Given the description of an element on the screen output the (x, y) to click on. 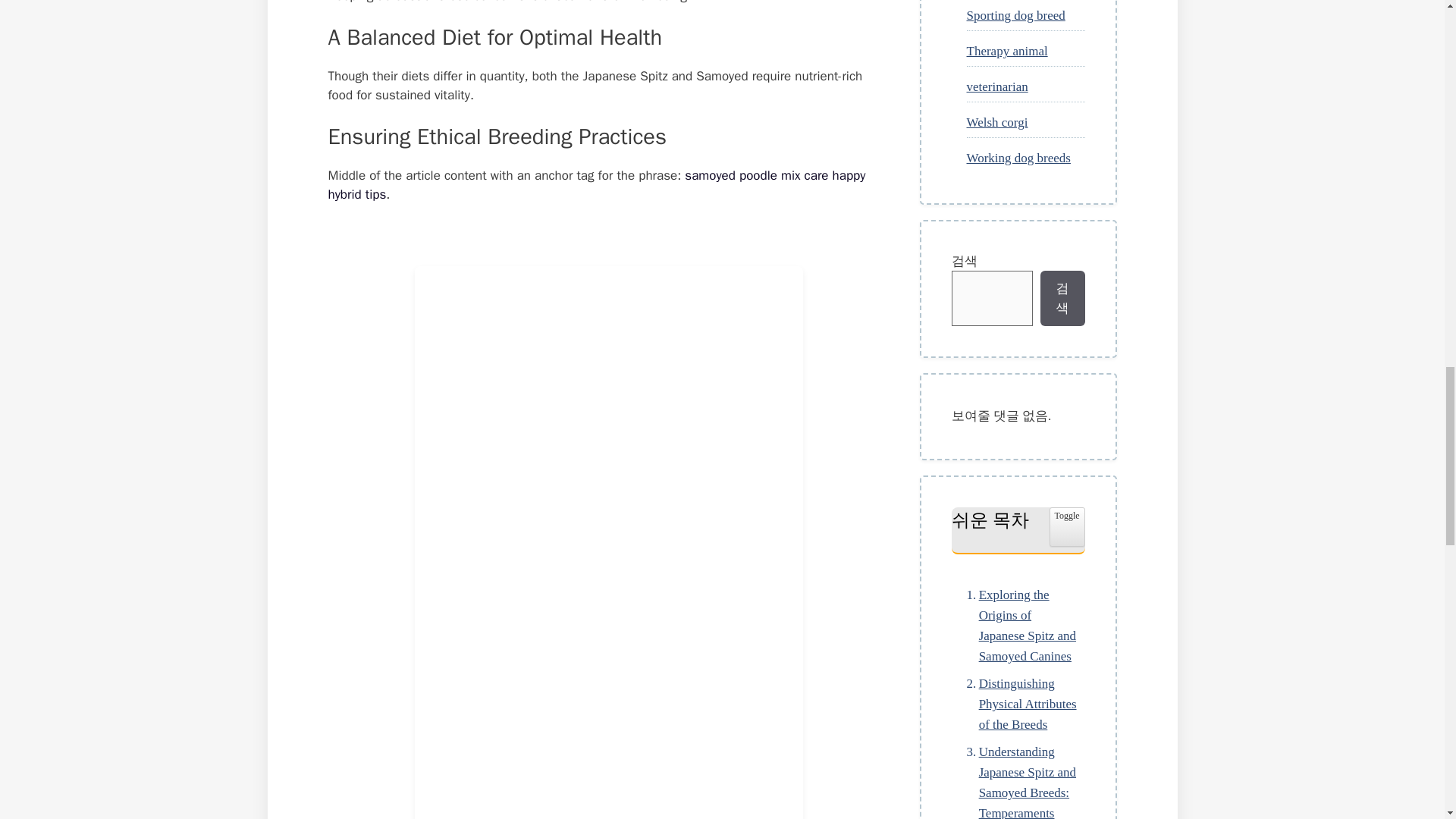
Exploring the Origins of Japanese Spitz and Samoyed Canines (1017, 625)
Distinguishing Physical Attributes of the Breeds (1017, 704)
samoyed poodle mix care happy hybrid tips (595, 185)
